Given the description of an element on the screen output the (x, y) to click on. 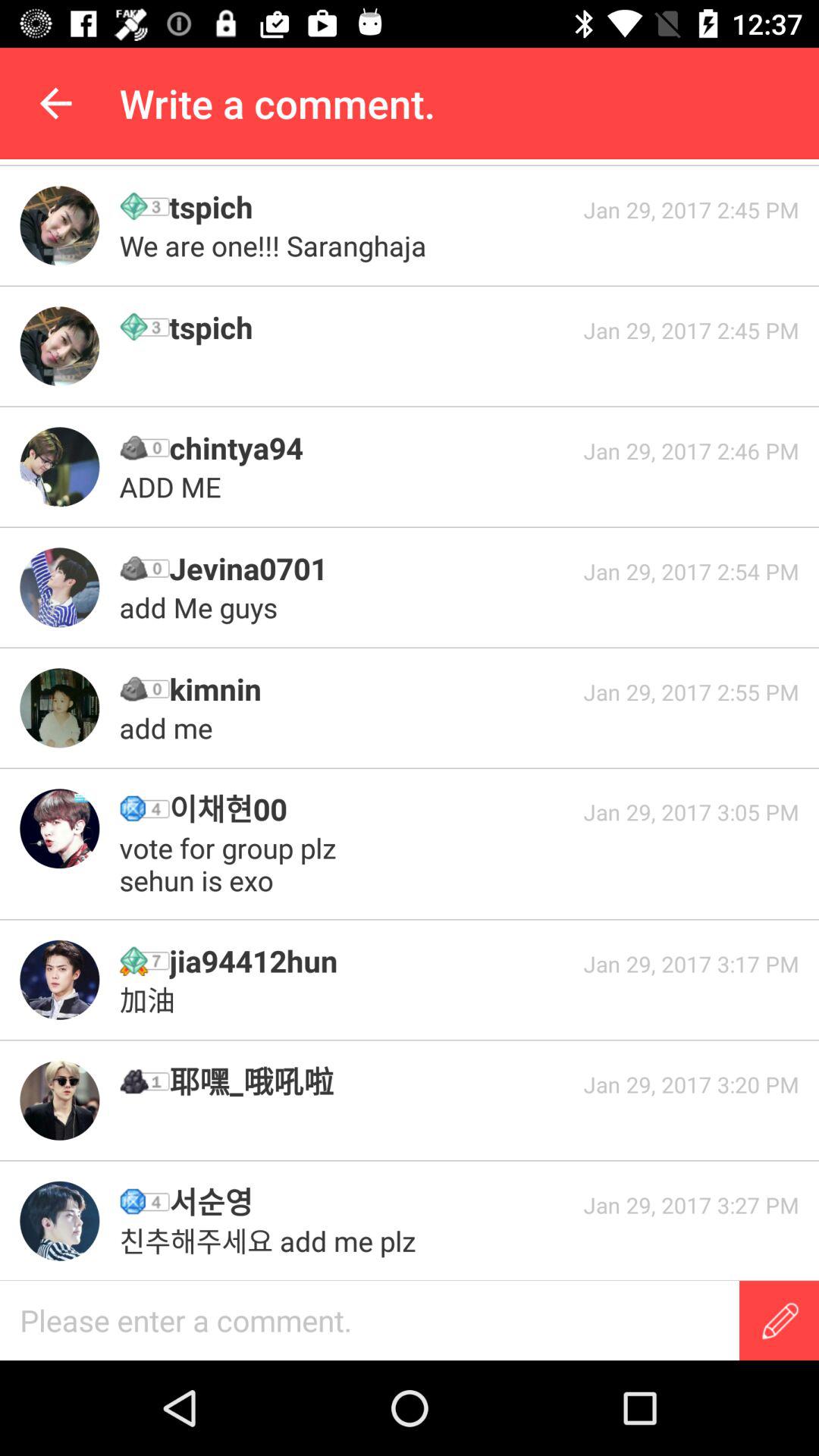
select profile (59, 587)
